Given the description of an element on the screen output the (x, y) to click on. 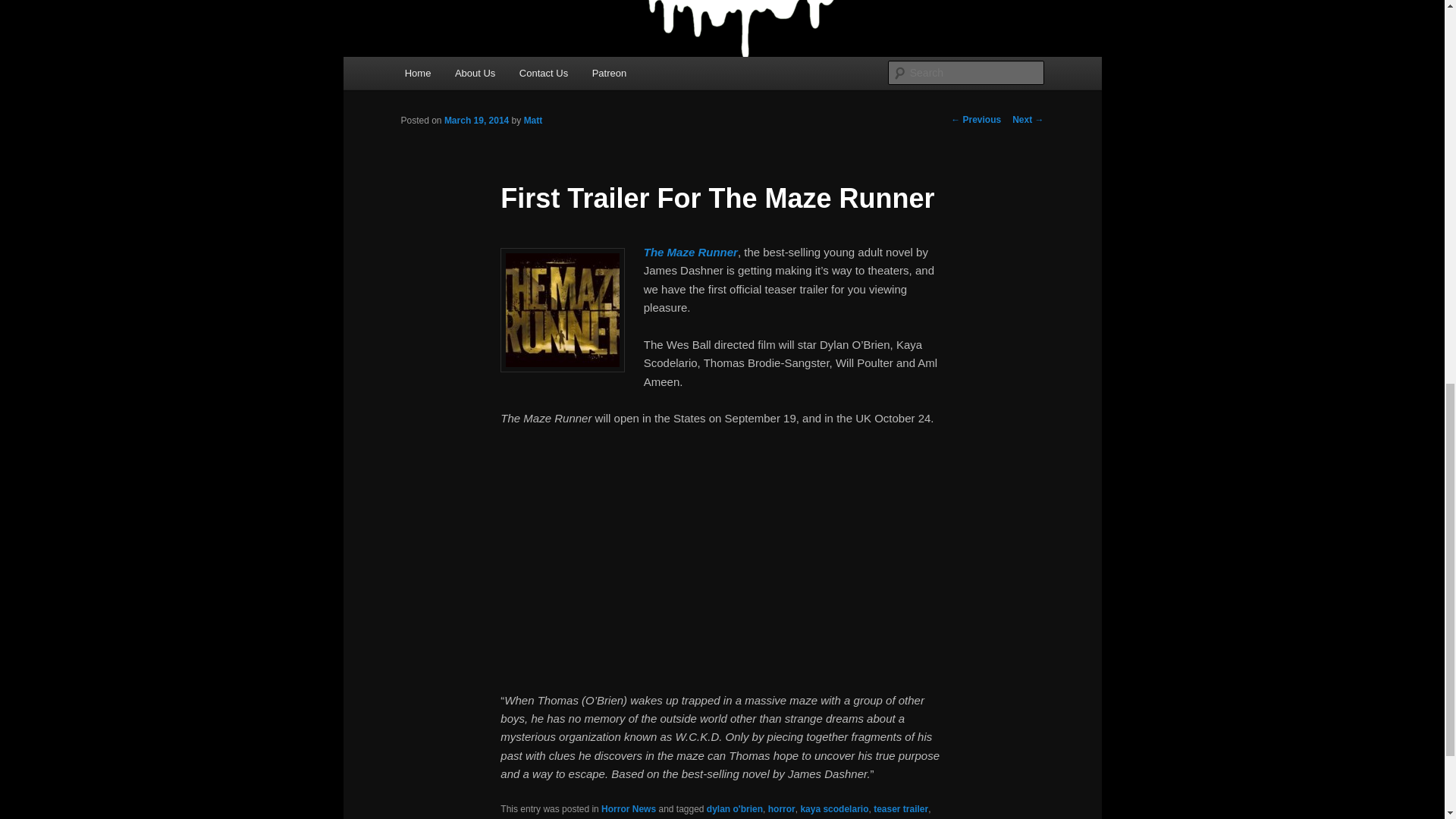
Contact Us (542, 72)
The Maze Runner (690, 251)
Permalink to First Trailer For The Maze Runner (761, 818)
horror (781, 808)
Patreon (609, 72)
About Us (474, 72)
dylan o'brien (734, 808)
View all posts by Matt (533, 120)
March 19, 2014 (476, 120)
Matt (533, 120)
kaya scodelario (833, 808)
trailer (588, 818)
Home (417, 72)
wes ball (624, 818)
